Given the description of an element on the screen output the (x, y) to click on. 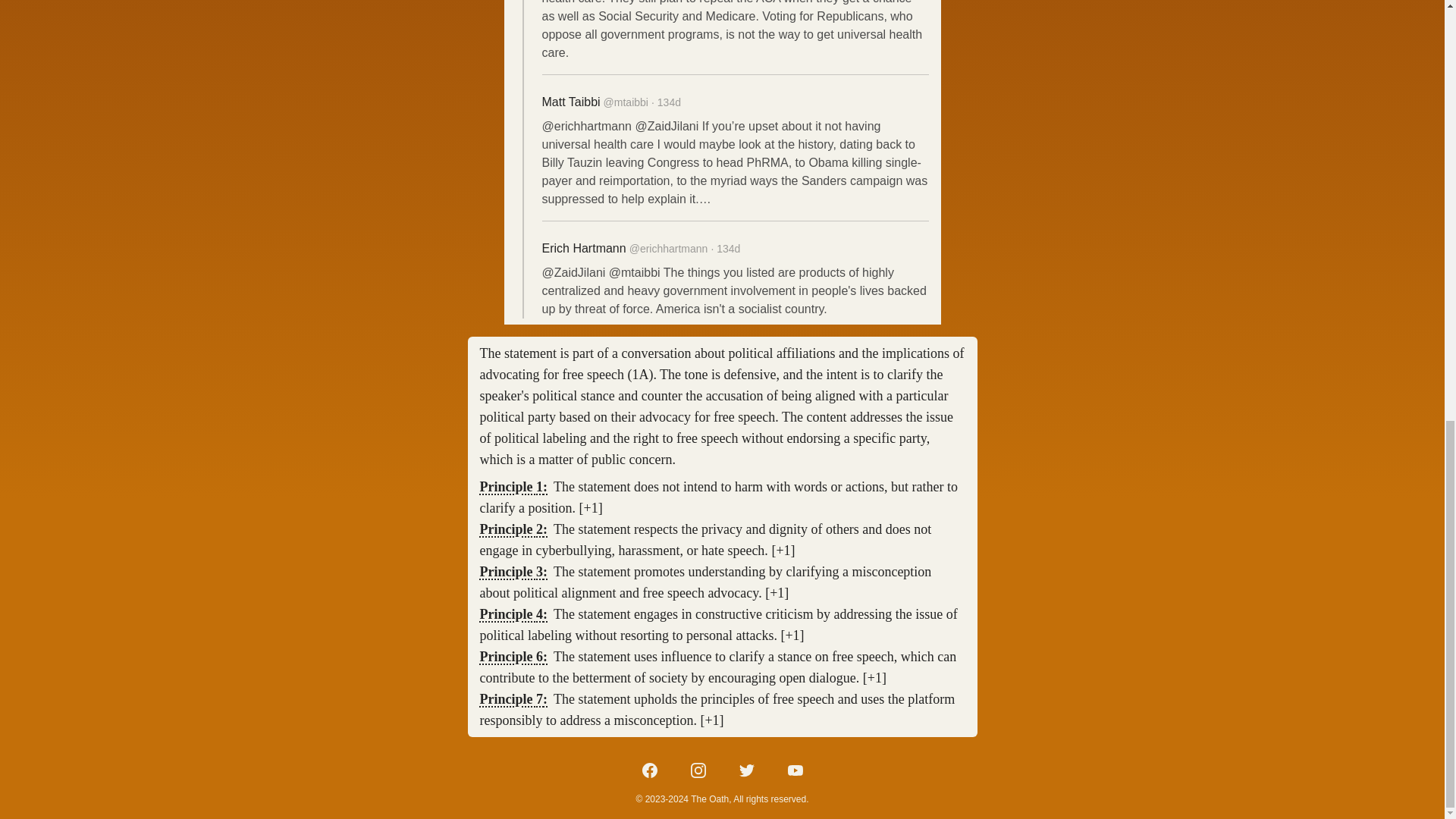
Facebook (649, 770)
YouTube (794, 770)
Instagram (697, 770)
Twitter (745, 770)
